Given the description of an element on the screen output the (x, y) to click on. 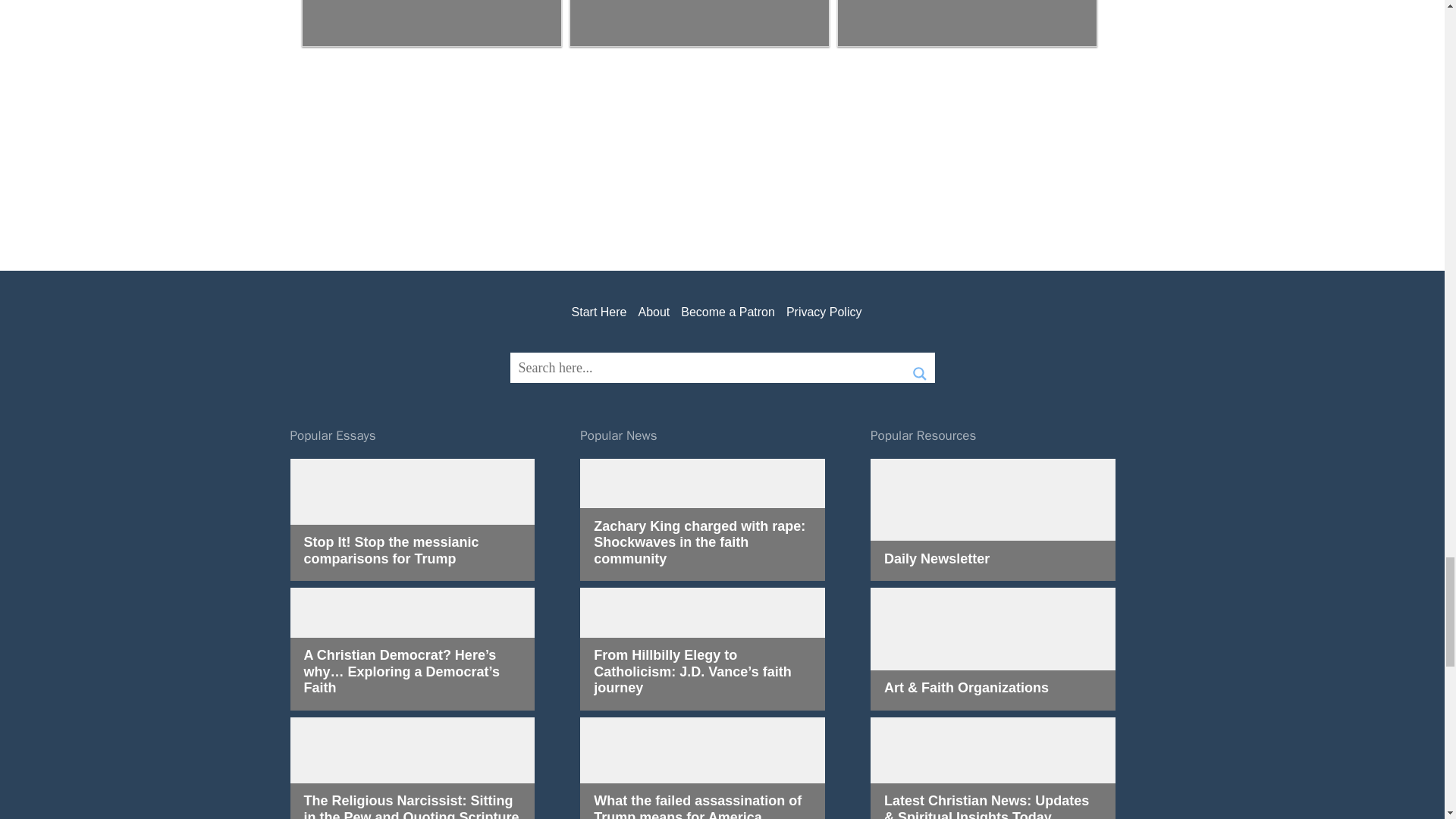
What is Hell? (699, 22)
Who is God? (966, 22)
What is the Church? (430, 22)
